Given the description of an element on the screen output the (x, y) to click on. 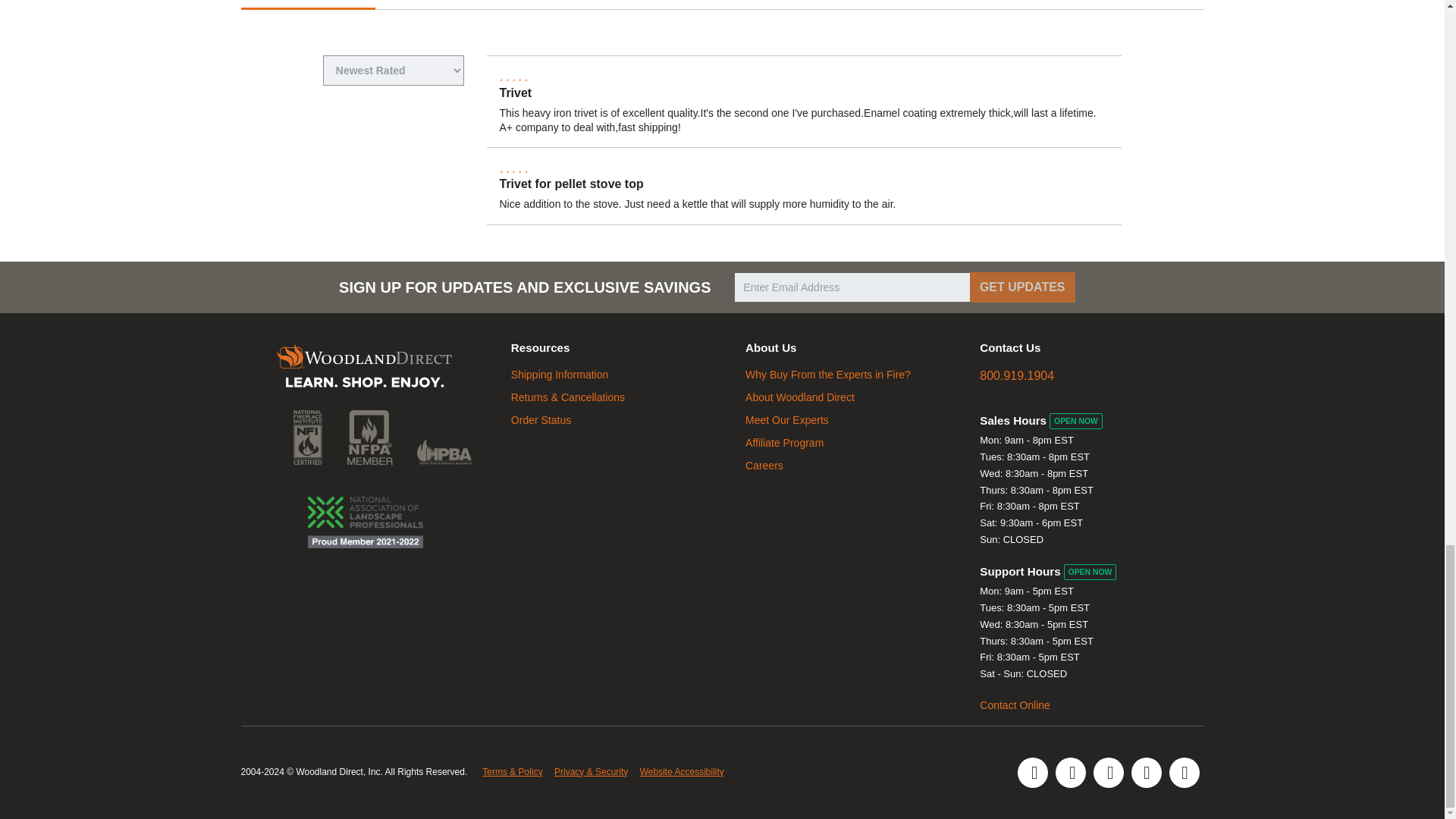
Go to Why Buy From the Experts in Fire (828, 374)
Go to Affiliate Program (784, 442)
Call 800.919.1904 (1016, 375)
Go to Meet Our Experts (786, 419)
Go to Contact Online (1014, 705)
Go to About Woodland Direct (799, 397)
Go to Order Status (540, 419)
Go Home (363, 367)
Go to Careers (764, 465)
Go to Shipping Information (559, 374)
